Given the description of an element on the screen output the (x, y) to click on. 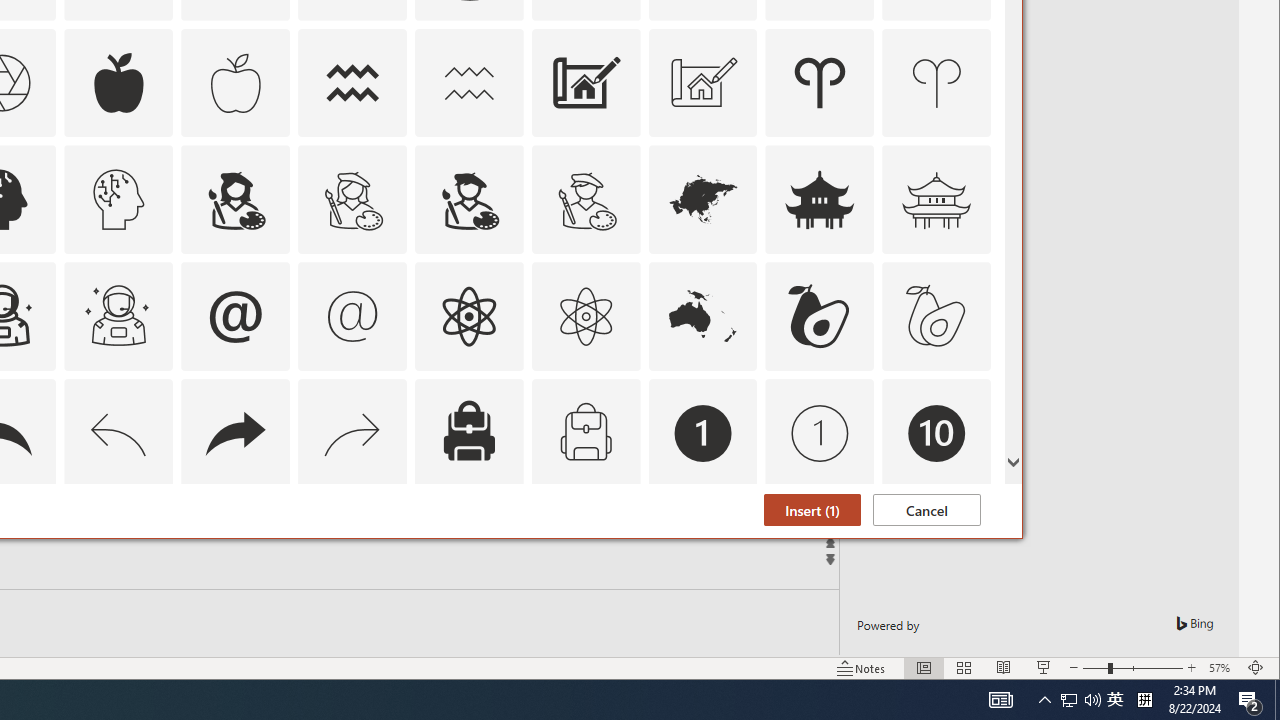
AutomationID: Icons_ArtistMale (468, 200)
AutomationID: Icons_AsianTemple (819, 200)
Insert (1) (812, 509)
AutomationID: Icons_ArtistFemale_M (353, 200)
